Given the description of an element on the screen output the (x, y) to click on. 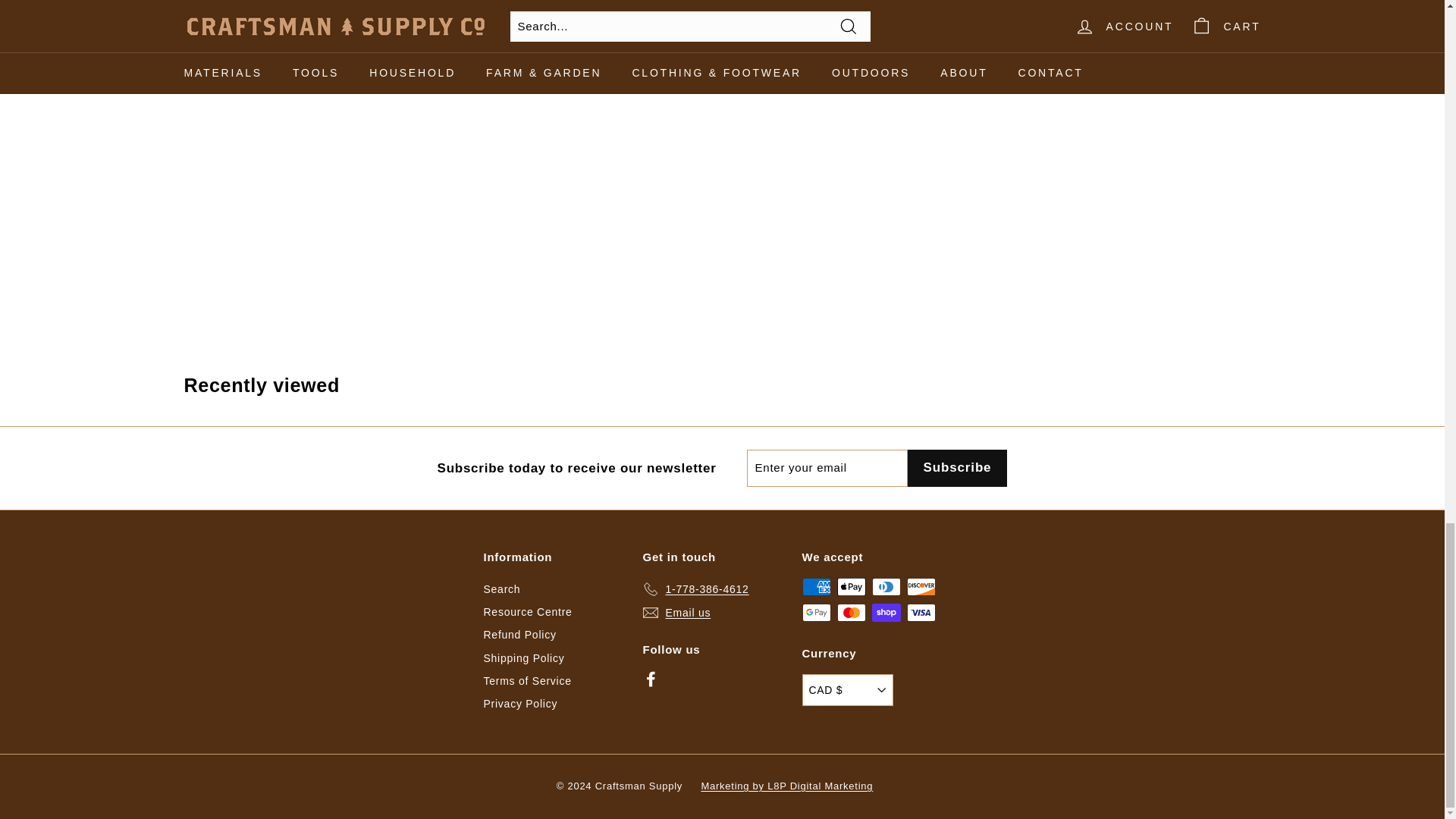
Visa (921, 612)
Shop Pay (886, 612)
American Express (816, 587)
Discover (921, 587)
Craftsman Supply on Facebook (651, 678)
Apple Pay (851, 587)
Diners Club (886, 587)
Mastercard (851, 612)
Google Pay (816, 612)
